Given the description of an element on the screen output the (x, y) to click on. 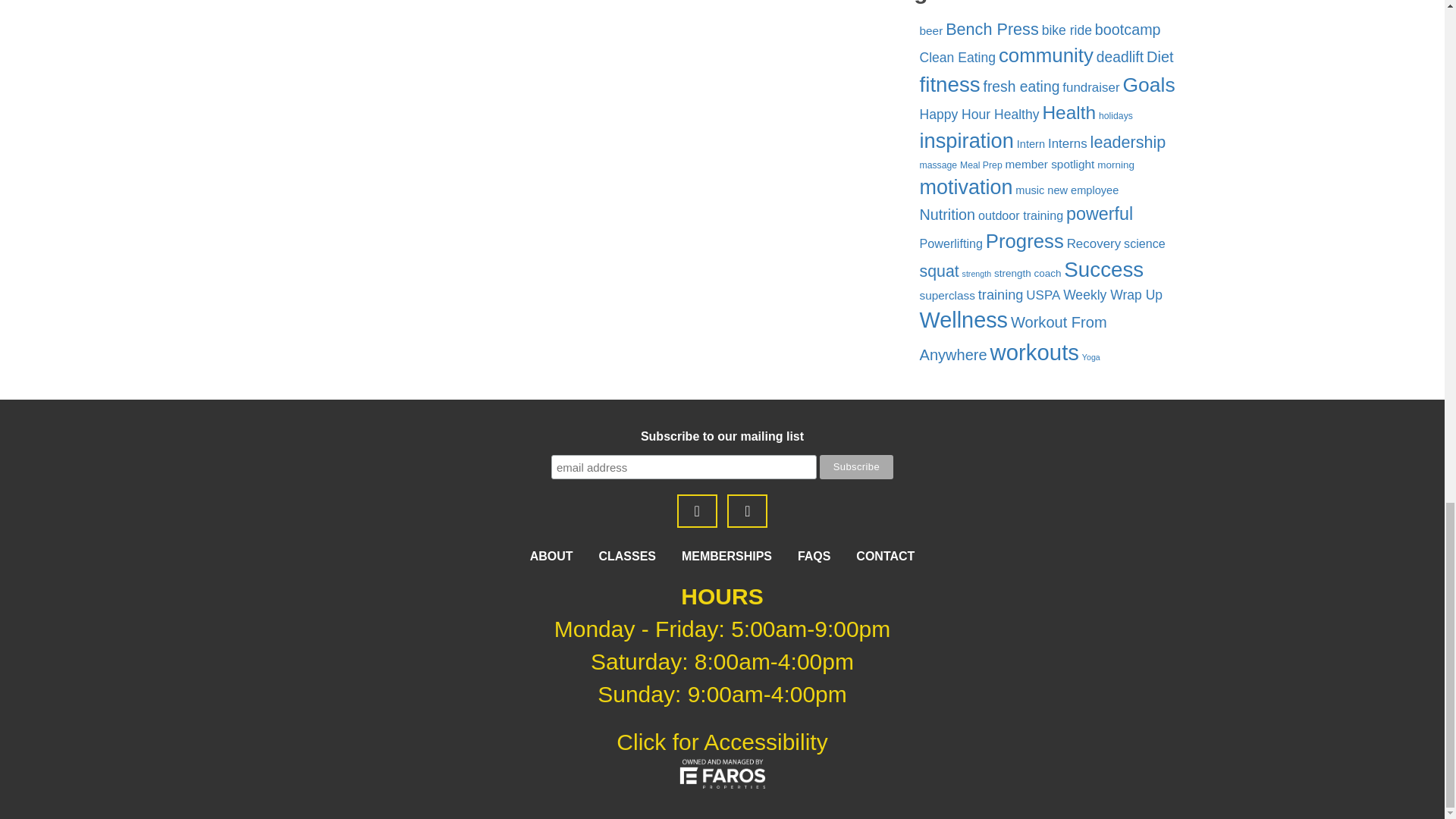
beer (930, 30)
About (551, 555)
FAQs (814, 555)
Classes (627, 555)
Memberships (726, 555)
Subscribe (856, 467)
Bench Press (991, 28)
Contact (885, 555)
